Given the description of an element on the screen output the (x, y) to click on. 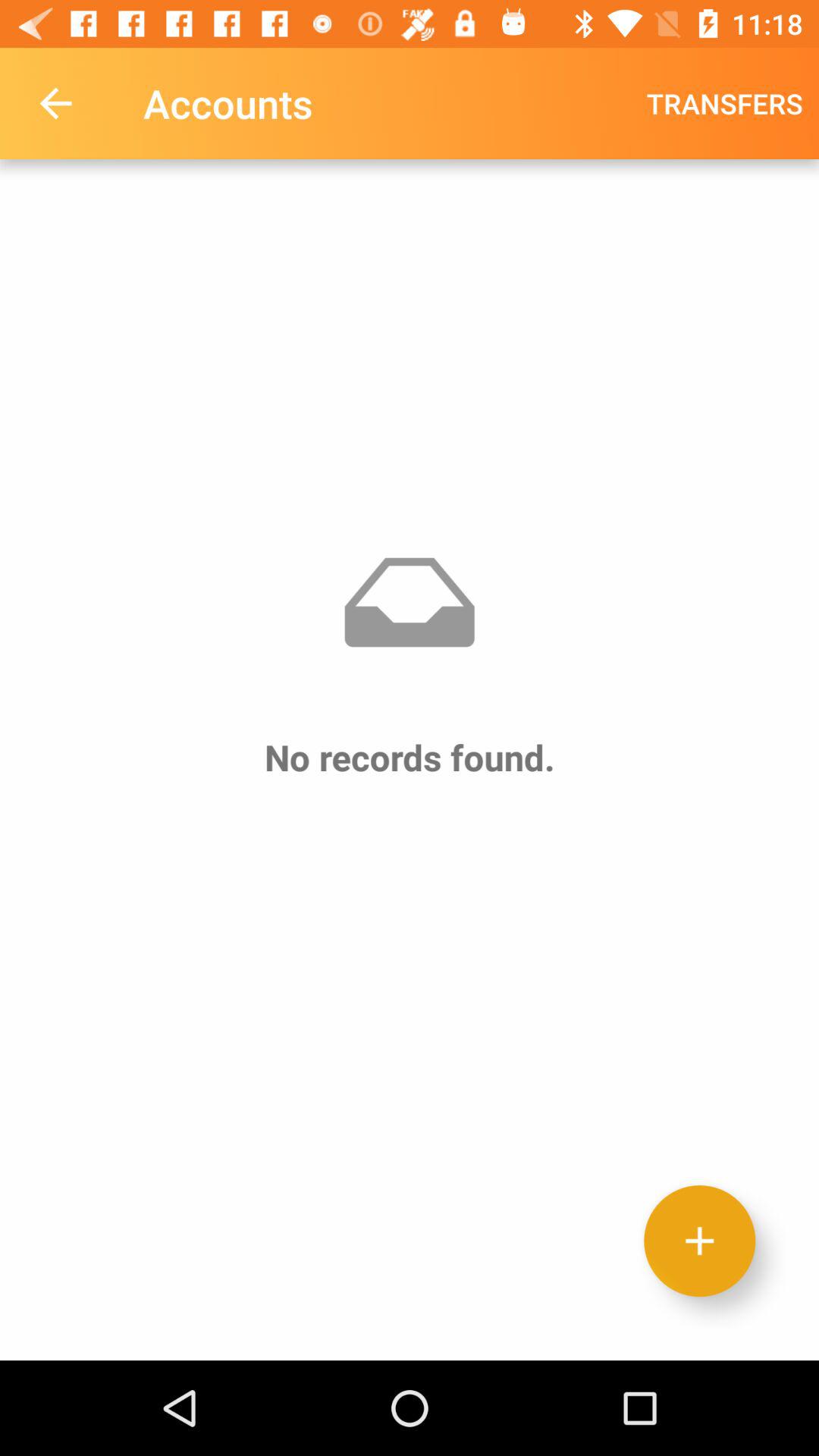
select icon at the bottom right corner (699, 1240)
